Given the description of an element on the screen output the (x, y) to click on. 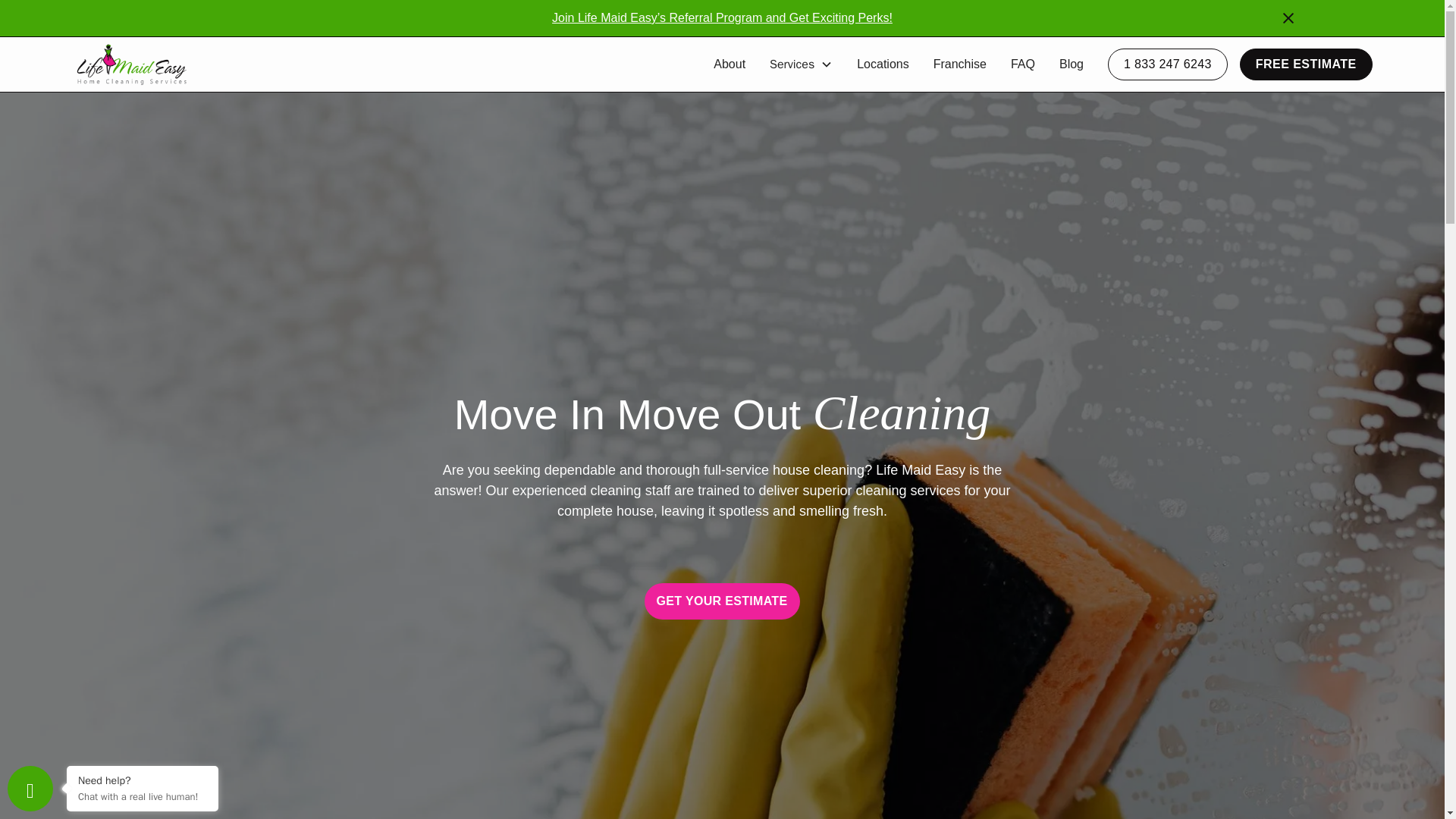
FREE ESTIMATE (1306, 64)
Franchise (959, 64)
1 833 247 6243 (1167, 64)
Need help? (142, 780)
Blog (1071, 64)
Chat with a real live human! (142, 796)
About (729, 64)
Locations (882, 64)
FAQ (1022, 64)
GET YOUR ESTIMATE (722, 601)
